Given the description of an element on the screen output the (x, y) to click on. 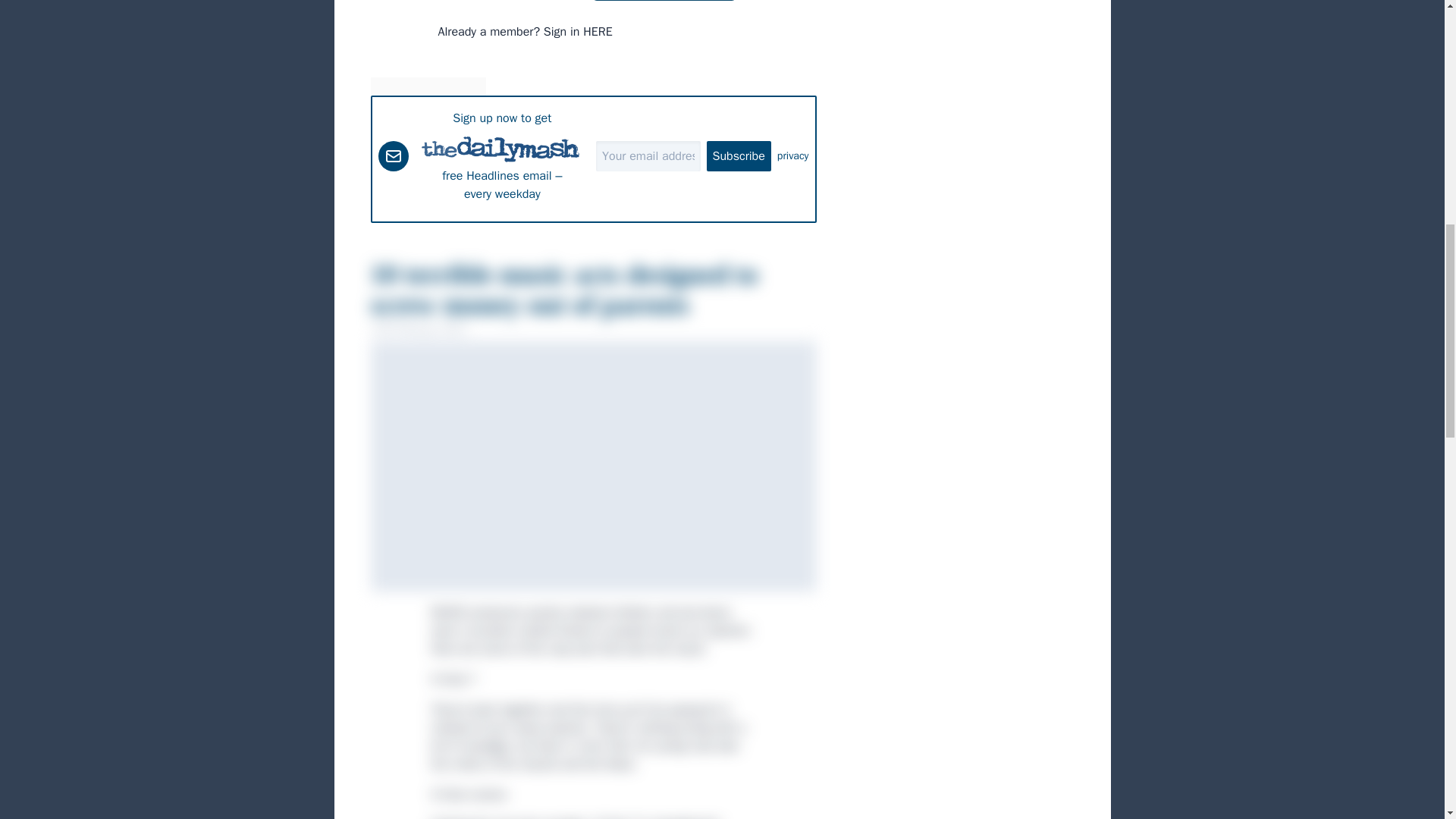
privacy (793, 155)
Subscribe (738, 155)
